Given the description of an element on the screen output the (x, y) to click on. 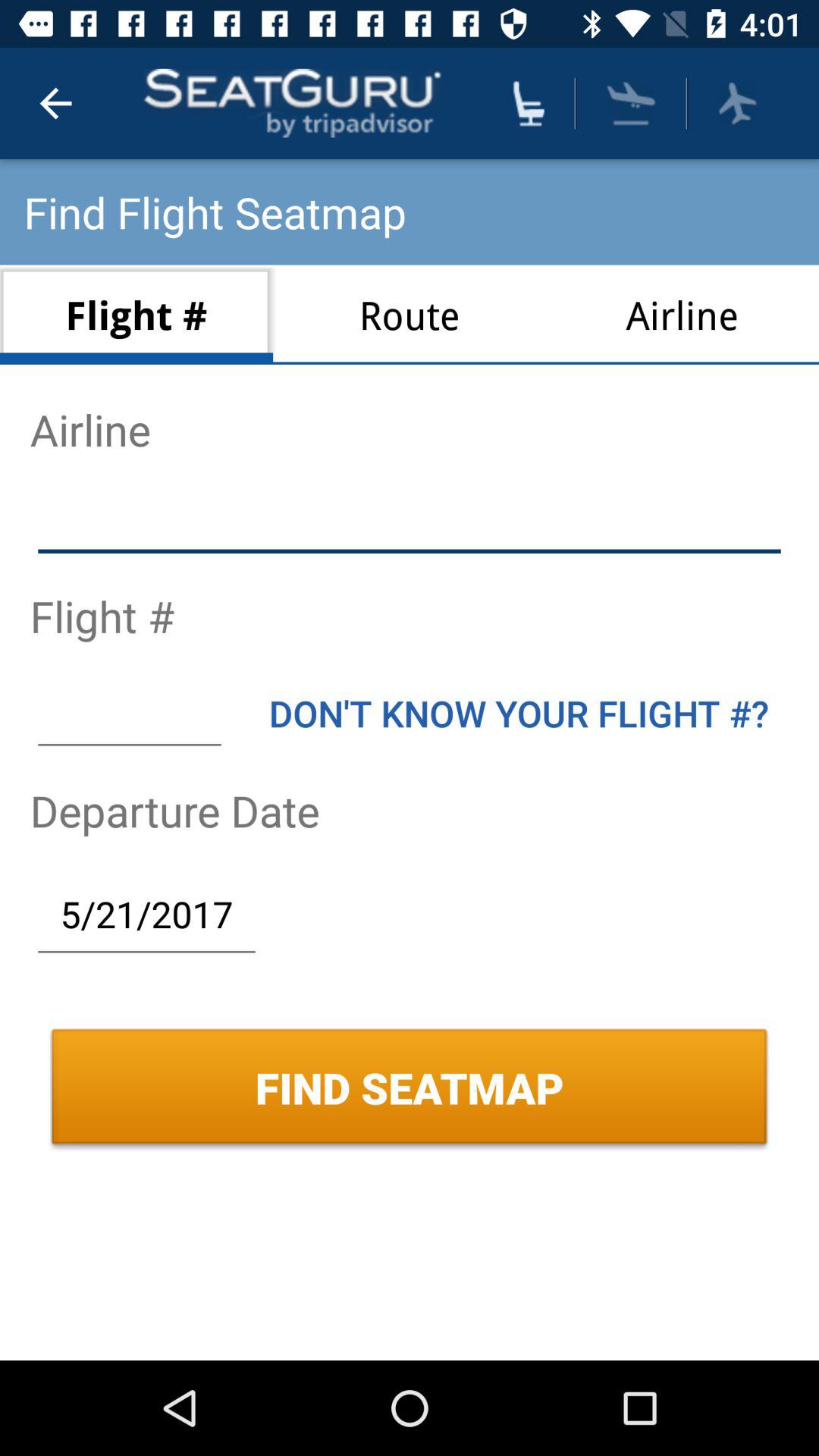
scroll to the route icon (409, 314)
